Given the description of an element on the screen output the (x, y) to click on. 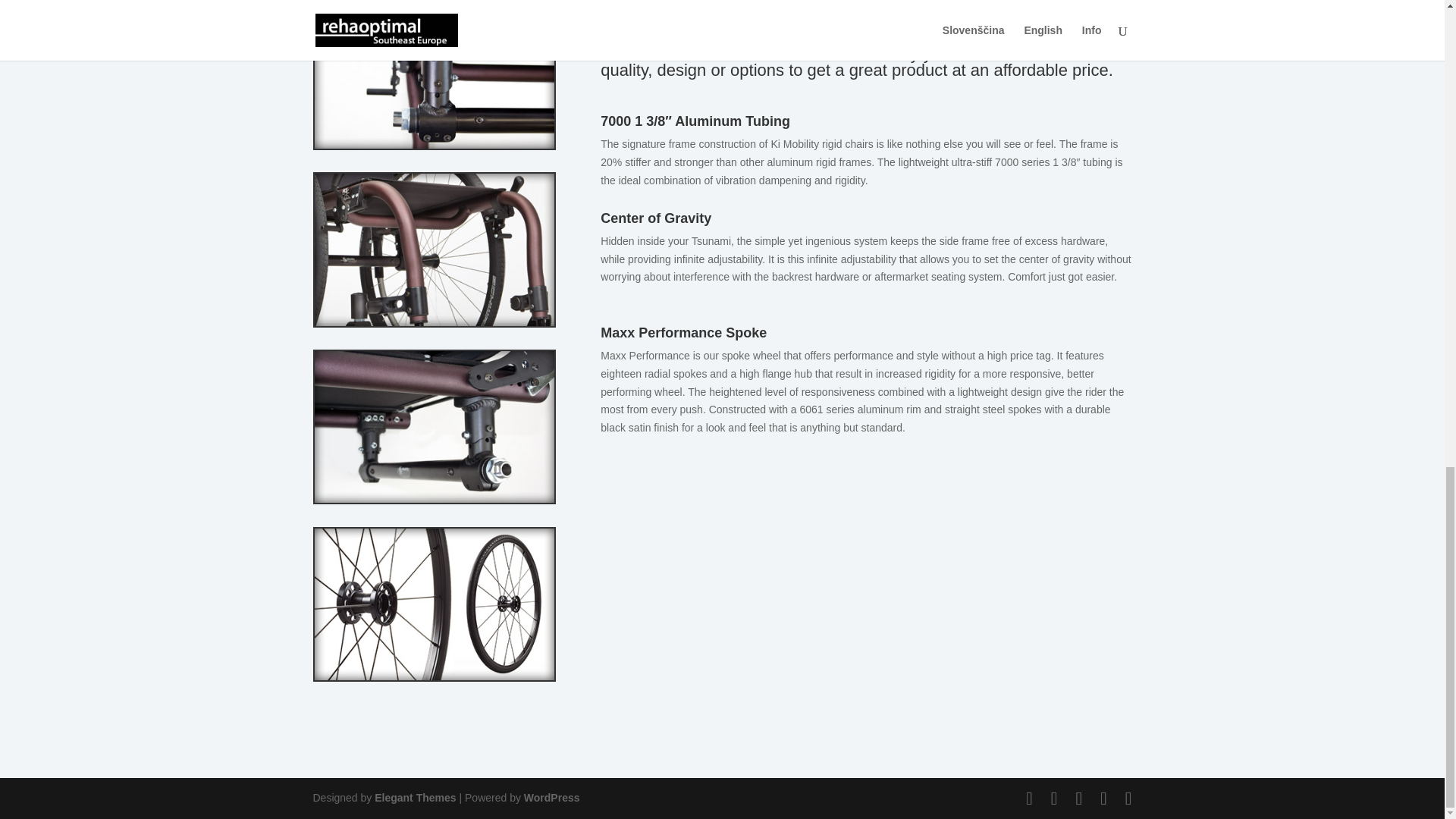
Elegant Themes (414, 797)
WordPress (551, 797)
Premium WordPress Themes (414, 797)
